Given the description of an element on the screen output the (x, y) to click on. 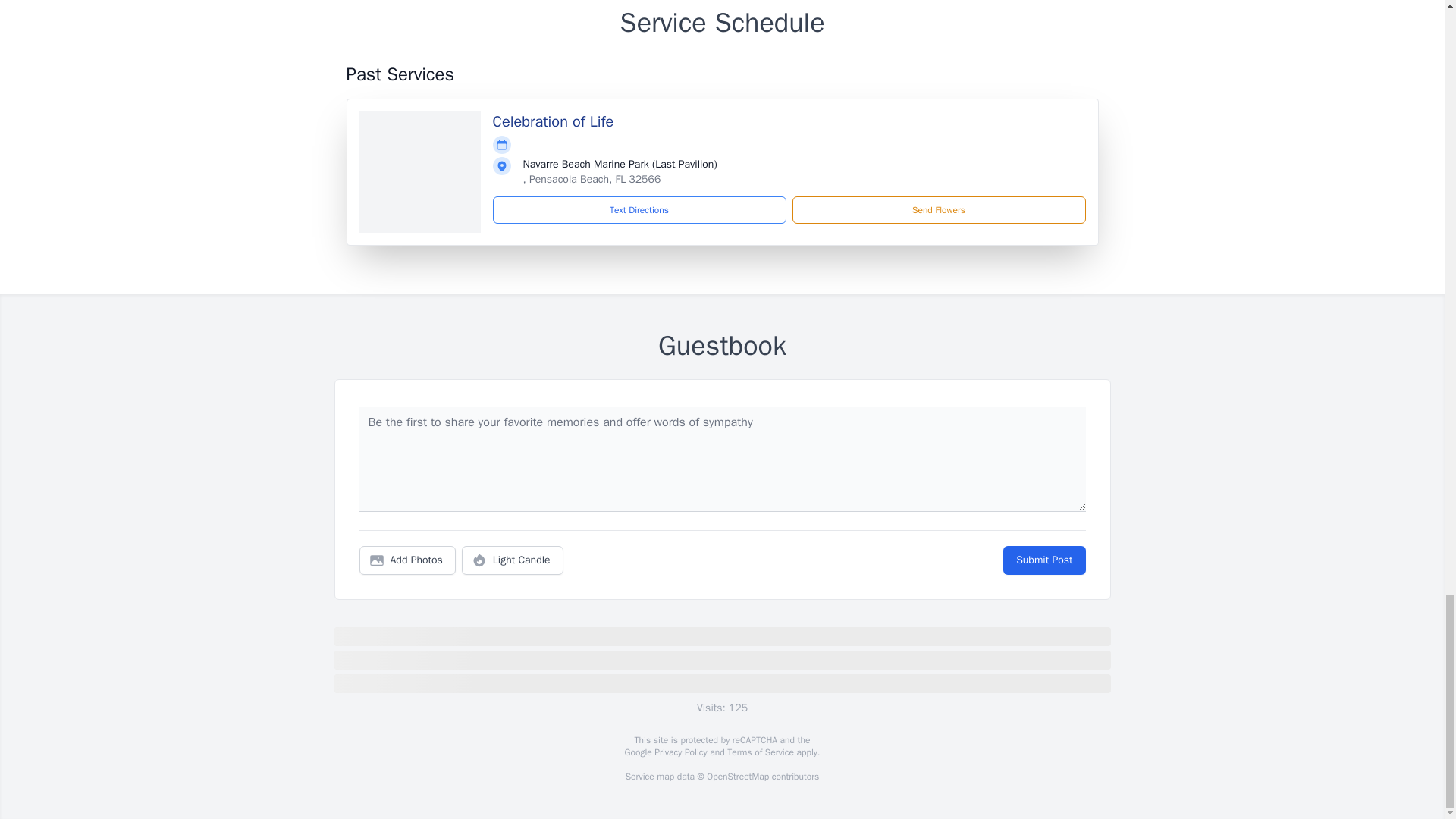
Terms of Service (759, 752)
Submit Post (1043, 560)
Add Photos (407, 560)
, Pensacola Beach, FL 32566 (591, 178)
Light Candle (512, 560)
Send Flowers (938, 209)
OpenStreetMap (737, 776)
Text Directions (639, 209)
Privacy Policy (679, 752)
